Given the description of an element on the screen output the (x, y) to click on. 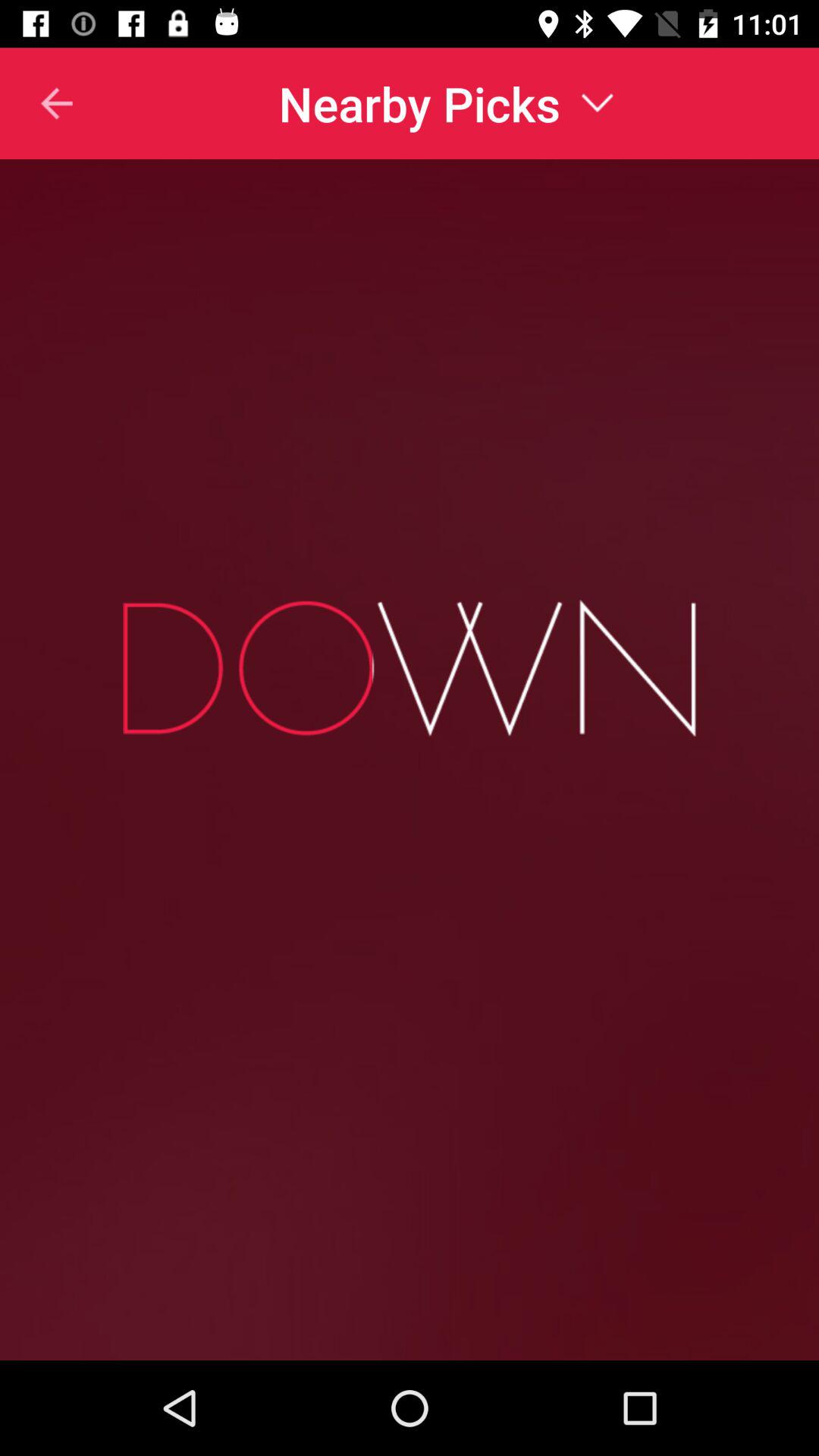
tap icon next to the nearby picks (37, 103)
